Given the description of an element on the screen output the (x, y) to click on. 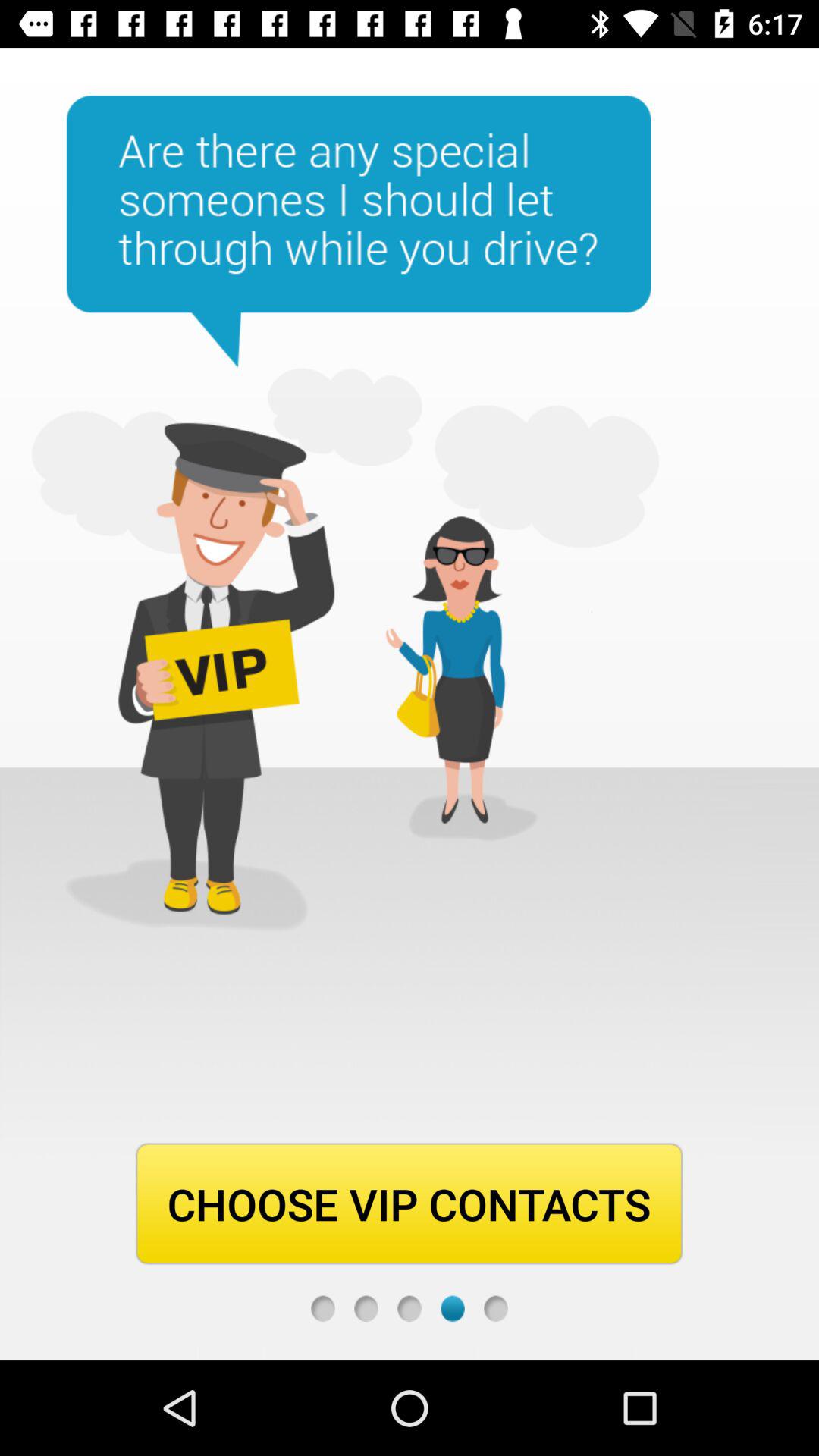
toggle pictures (366, 1308)
